Given the description of an element on the screen output the (x, y) to click on. 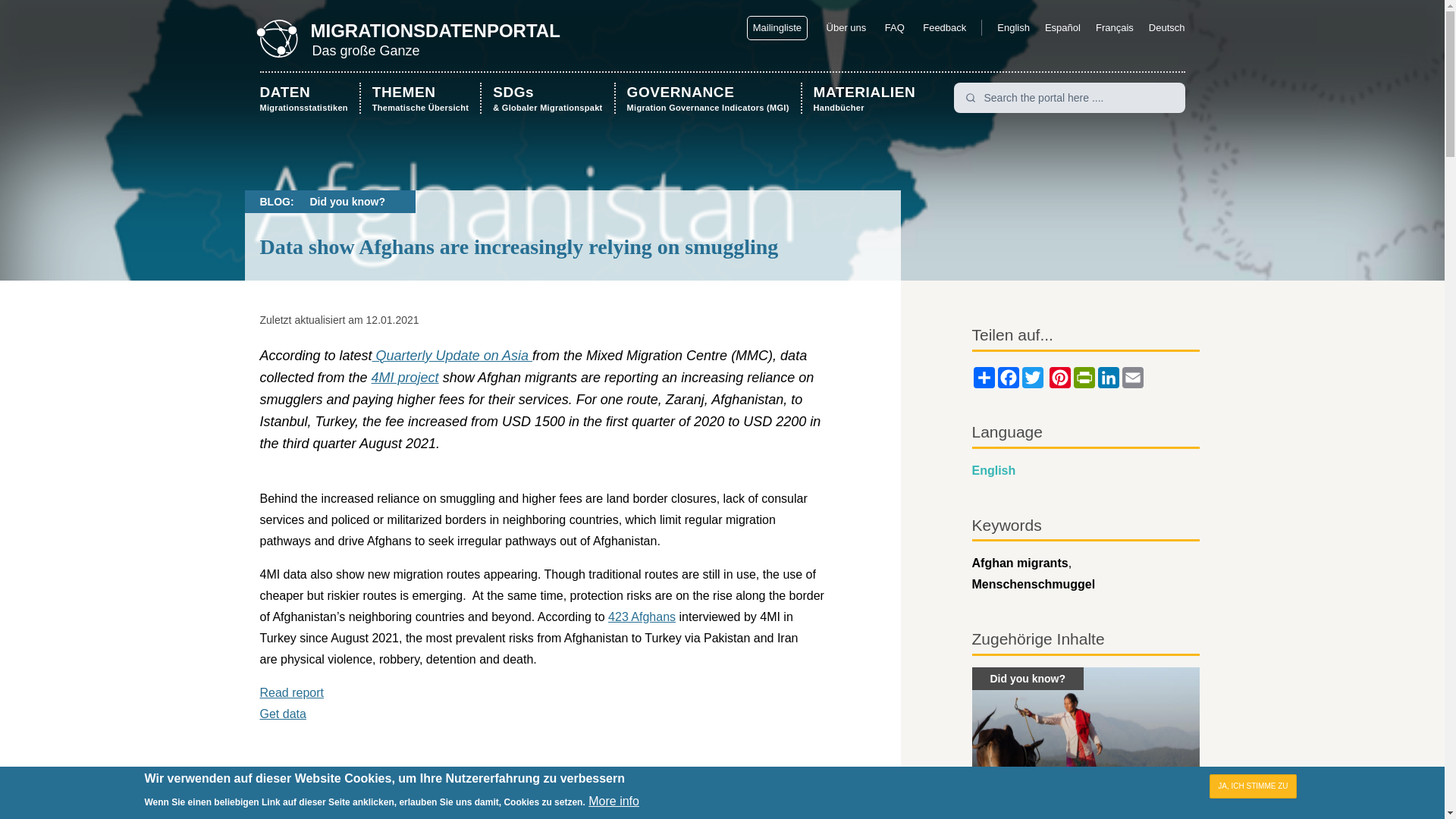
Feedback (944, 27)
English (1013, 27)
blog-dyk-md (1085, 743)
Mailingliste (308, 97)
FAQ (777, 27)
Migrationsstatistiken (894, 27)
Skip to main content (308, 97)
Deutsch (435, 30)
